Given the description of an element on the screen output the (x, y) to click on. 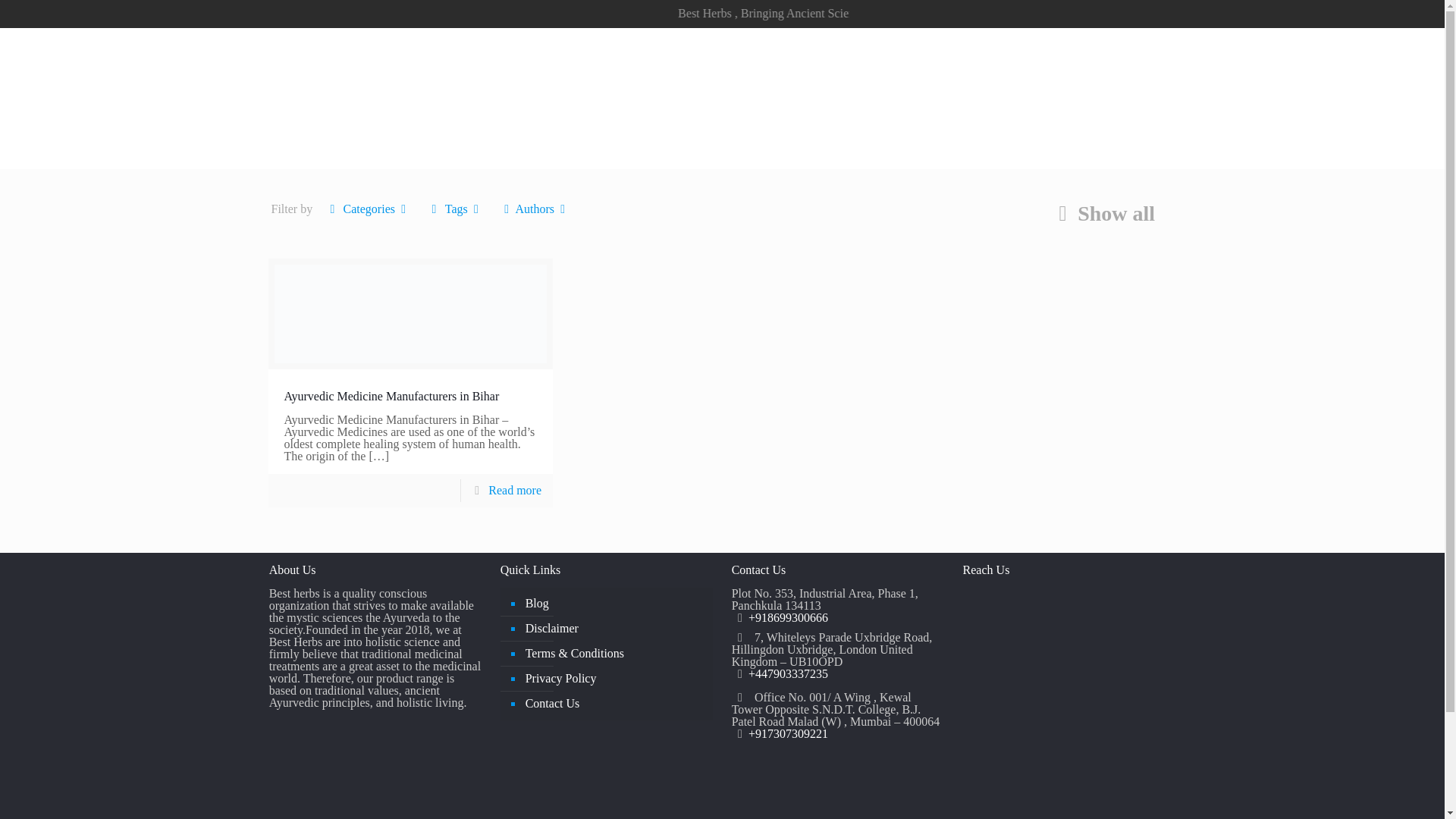
Authors (533, 208)
Show all (1101, 213)
Categories (368, 208)
Tags (455, 208)
